Given the description of an element on the screen output the (x, y) to click on. 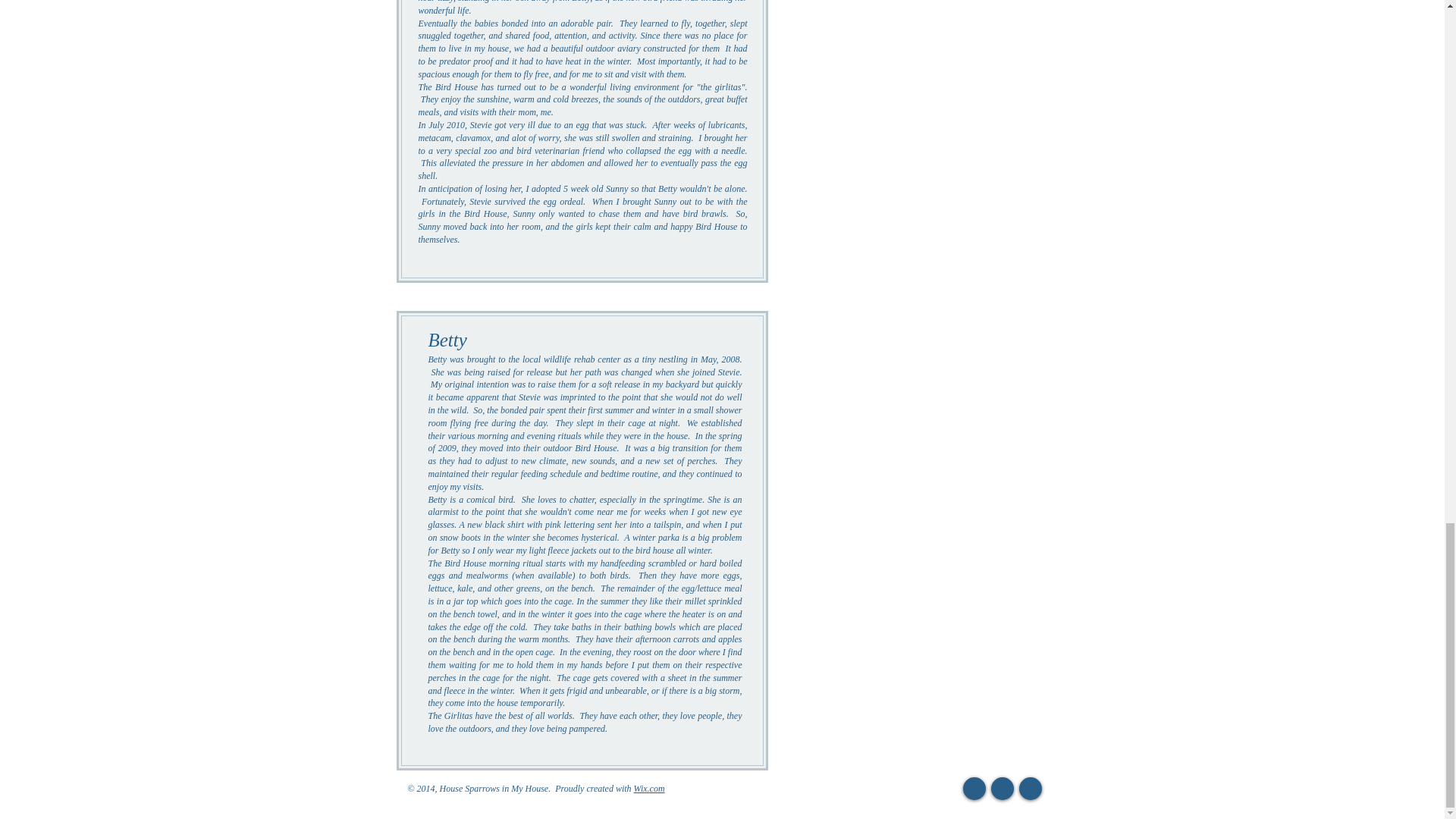
Wix.com (649, 787)
